Given the description of an element on the screen output the (x, y) to click on. 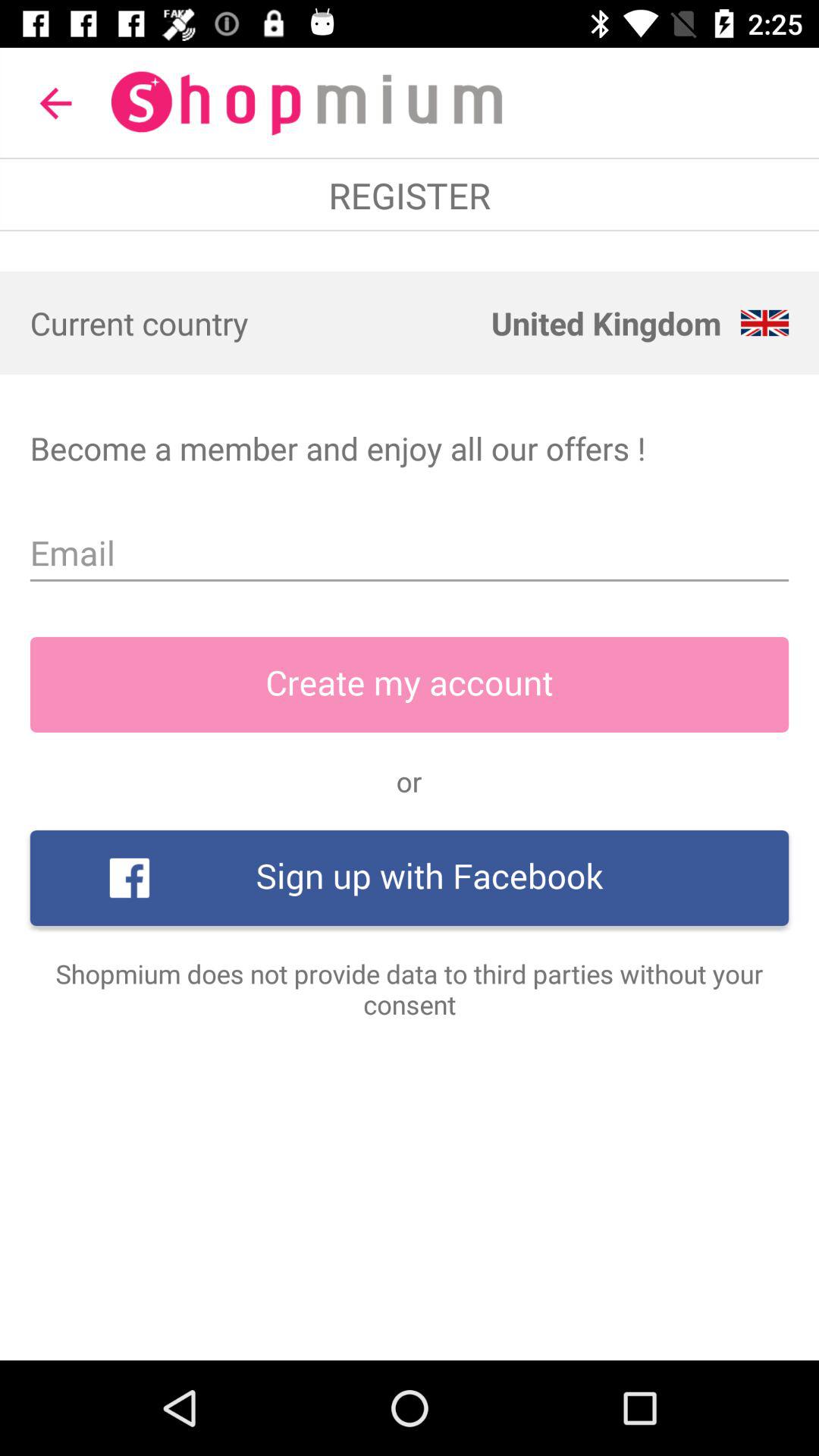
open icon above register (55, 103)
